Given the description of an element on the screen output the (x, y) to click on. 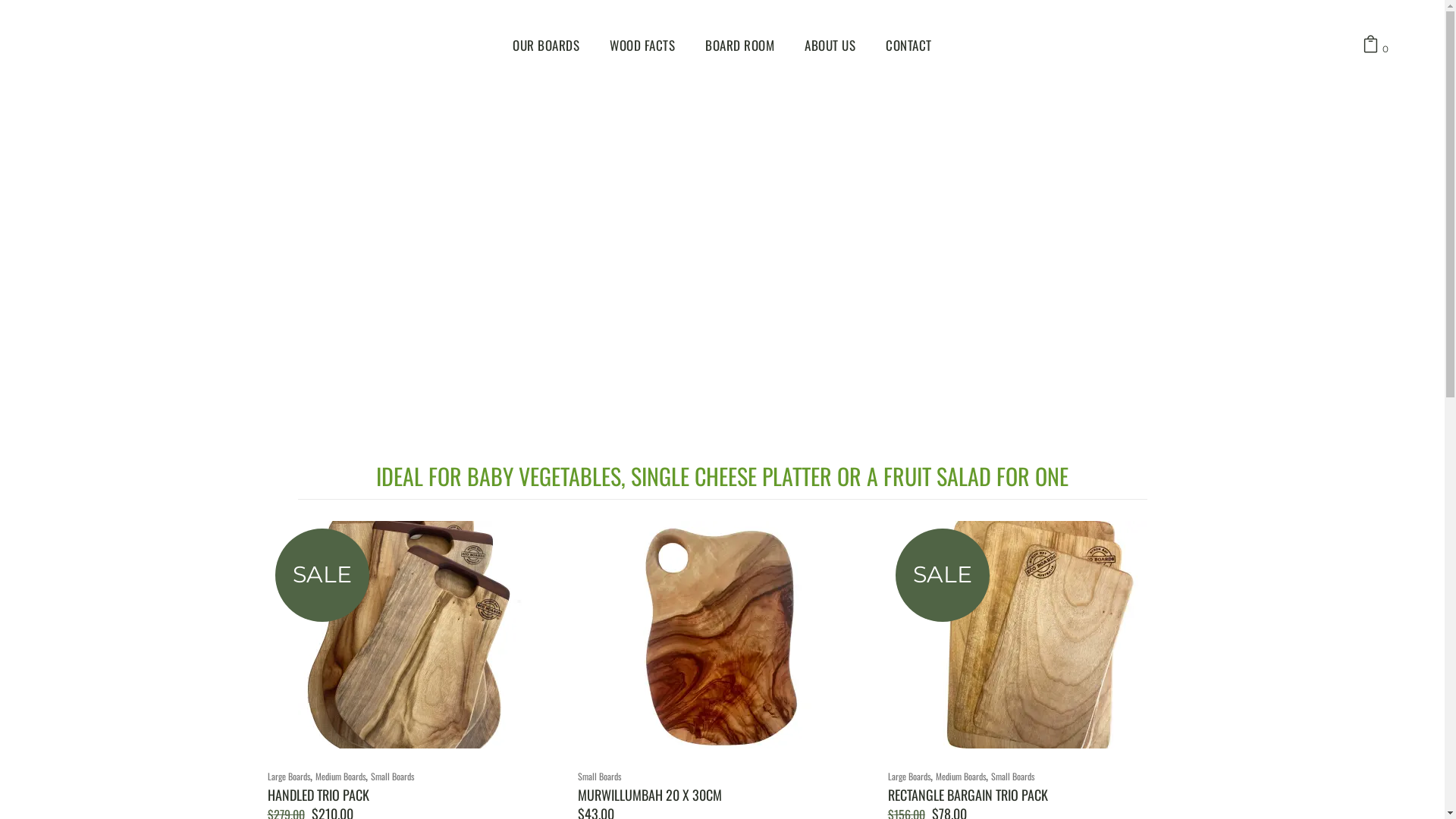
SALE Element type: text (411, 634)
WOOD FACTS Element type: text (642, 45)
CONTACT Element type: text (908, 45)
Large Boards Element type: text (287, 775)
Large Boards Element type: text (909, 775)
0 Element type: text (1370, 45)
BOARD ROOM Element type: text (739, 45)
Medium Boards Element type: text (340, 775)
Medium Boards Element type: text (960, 775)
Small Boards Element type: text (599, 775)
SALE Element type: text (1032, 634)
OUR BOARDS Element type: text (545, 45)
ABOUT US Element type: text (829, 45)
Small Boards Element type: text (1012, 775)
Small Boards Element type: text (391, 775)
